Given the description of an element on the screen output the (x, y) to click on. 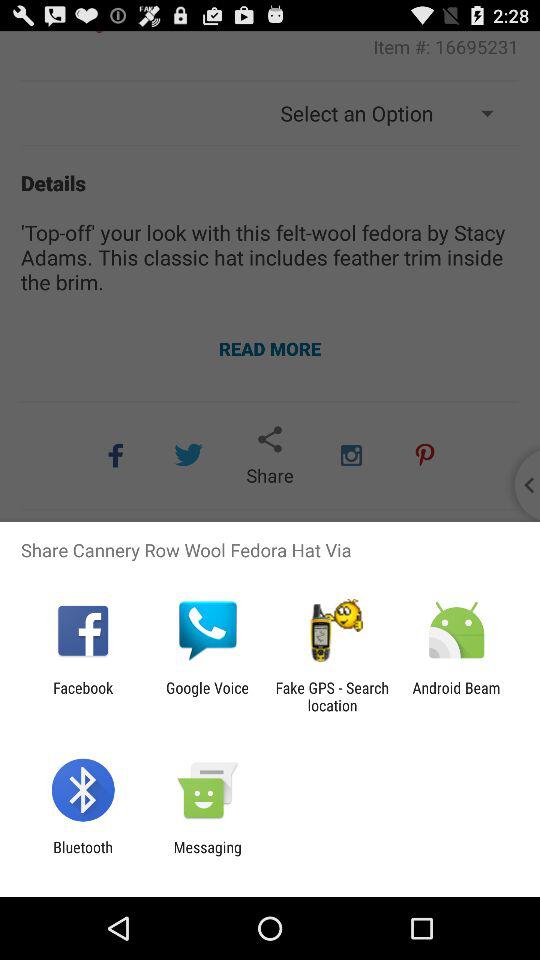
flip until the facebook (83, 696)
